Given the description of an element on the screen output the (x, y) to click on. 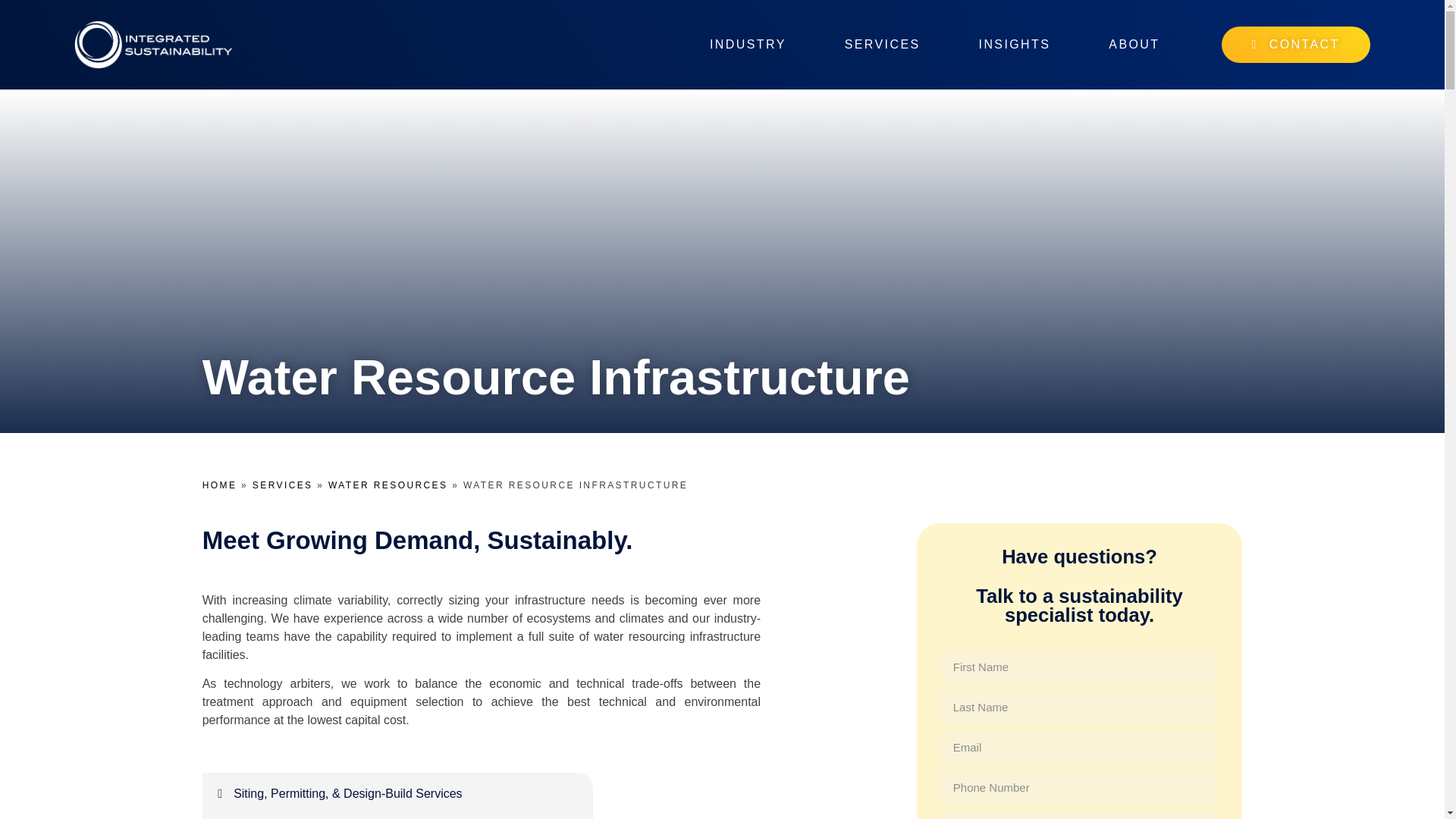
INDUSTRY (748, 45)
ABOUT (1133, 45)
INSIGHTS (1014, 45)
SERVICES (882, 45)
